Given the description of an element on the screen output the (x, y) to click on. 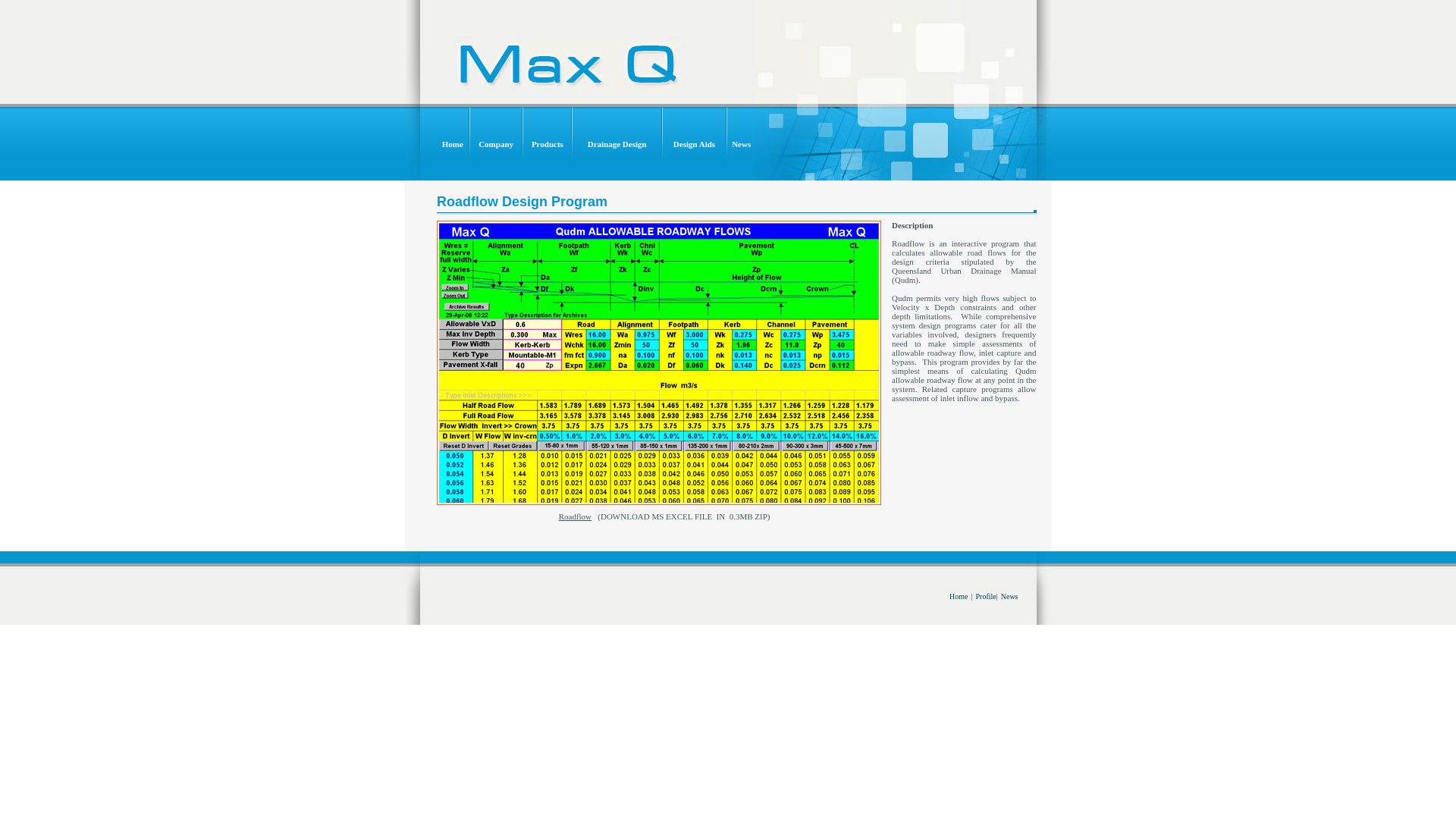
Drainage Design Element type: text (616, 143)
Home Element type: text (452, 143)
Home Element type: text (958, 595)
News Element type: text (1009, 595)
Roadflow Element type: text (574, 515)
News Element type: text (740, 143)
Profile Element type: text (985, 595)
Design Aids Element type: text (694, 143)
Products Element type: text (547, 143)
Company Element type: text (495, 143)
